Given the description of an element on the screen output the (x, y) to click on. 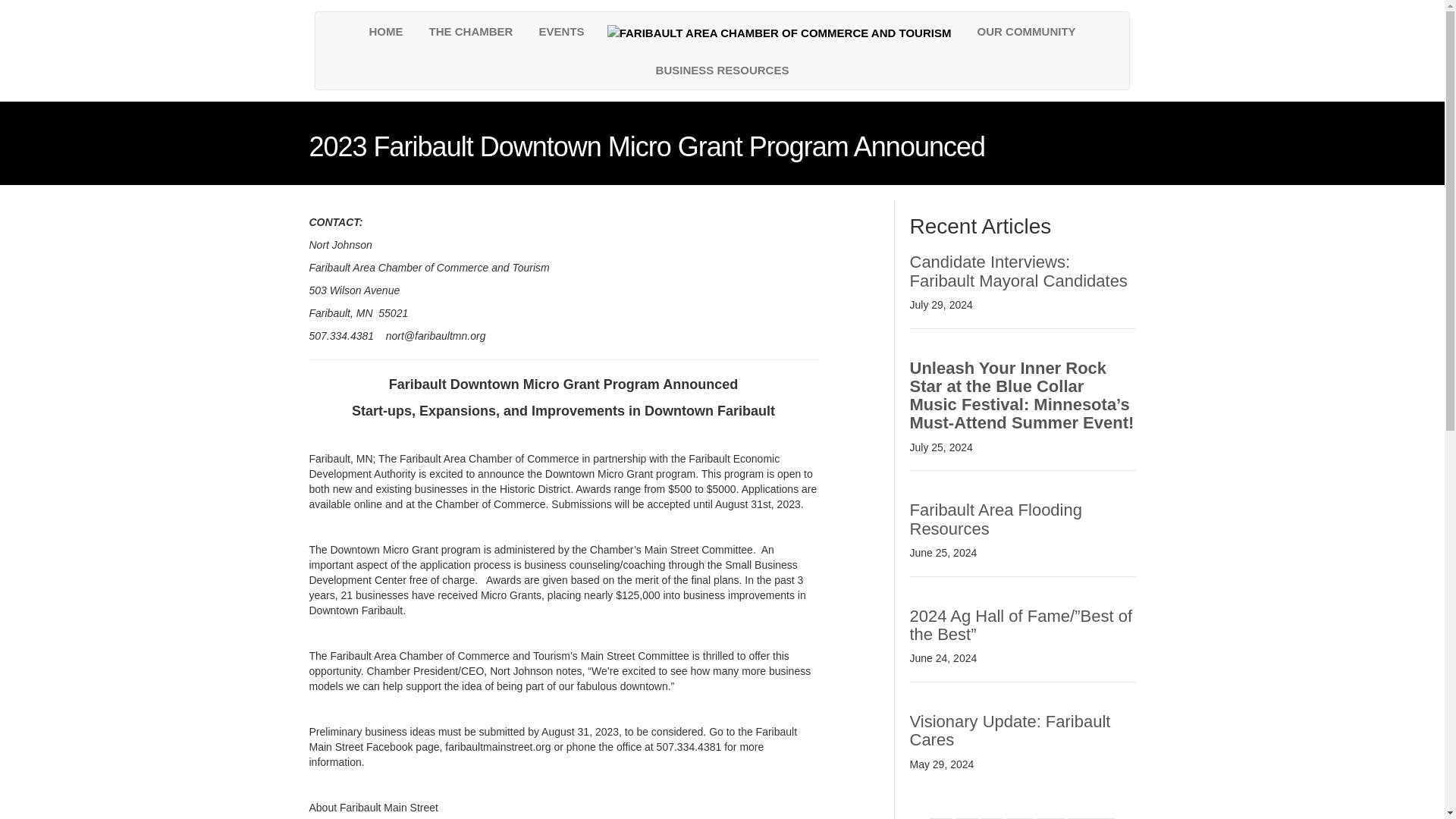
Visionary Update: Faribault Cares (1010, 730)
HOME (384, 31)
THE CHAMBER (470, 31)
Faribault Area Flooding Resources (995, 518)
Candidate Interviews: Faribault Mayoral Candidates (1018, 270)
